Given the description of an element on the screen output the (x, y) to click on. 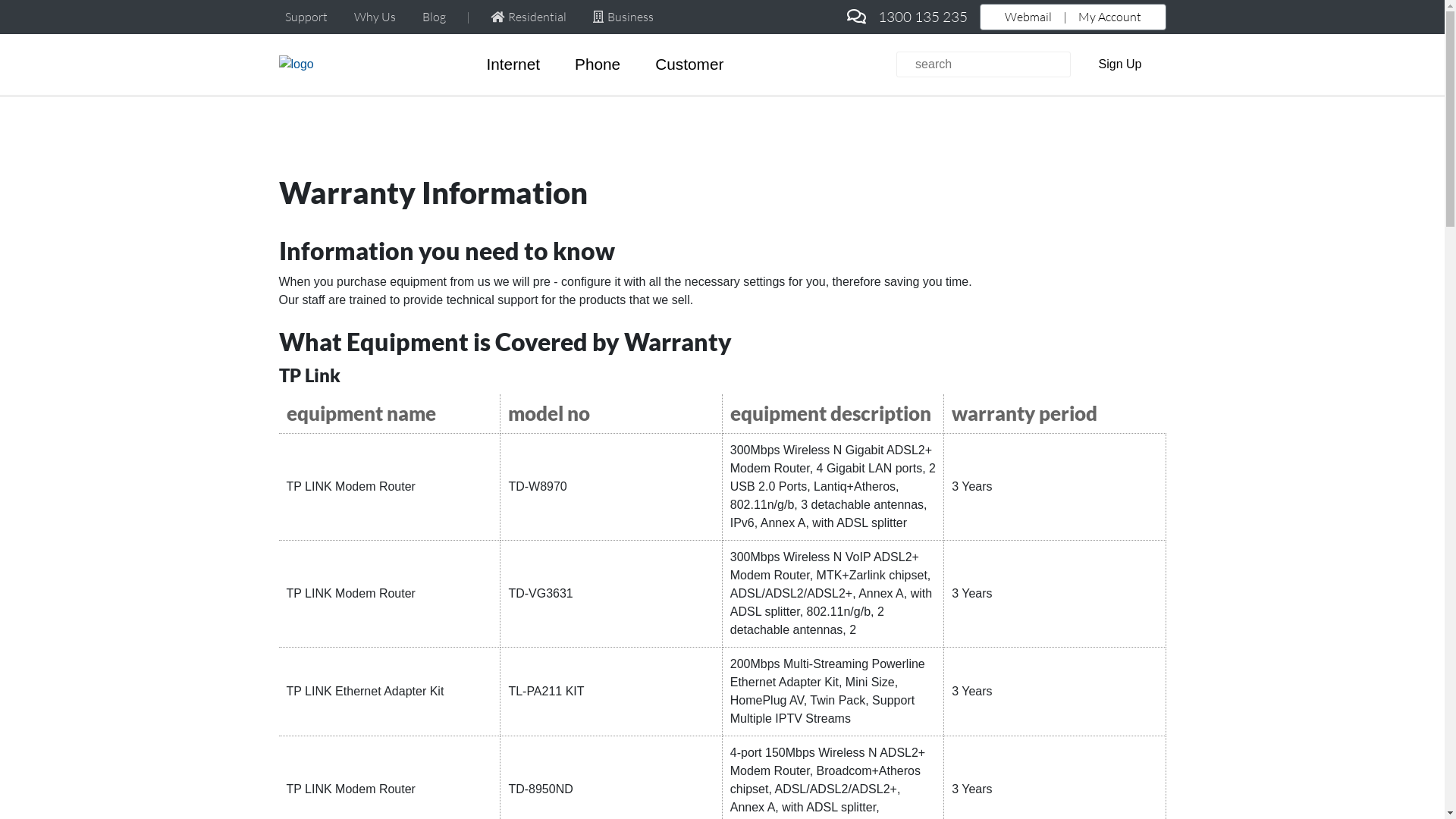
Phone Element type: text (597, 63)
Webmail     |     My Account Element type: text (1072, 17)
Sign Up Element type: text (1120, 64)
Blog Element type: text (433, 16)
Residential Element type: text (528, 16)
Support Element type: text (306, 16)
Business Element type: text (622, 16)
EscapeNet Homepage Element type: hover (296, 63)
Why Us Element type: text (374, 16)
Customer Element type: text (689, 63)
Internet Element type: text (512, 63)
search our site Element type: hover (983, 64)
